Given the description of an element on the screen output the (x, y) to click on. 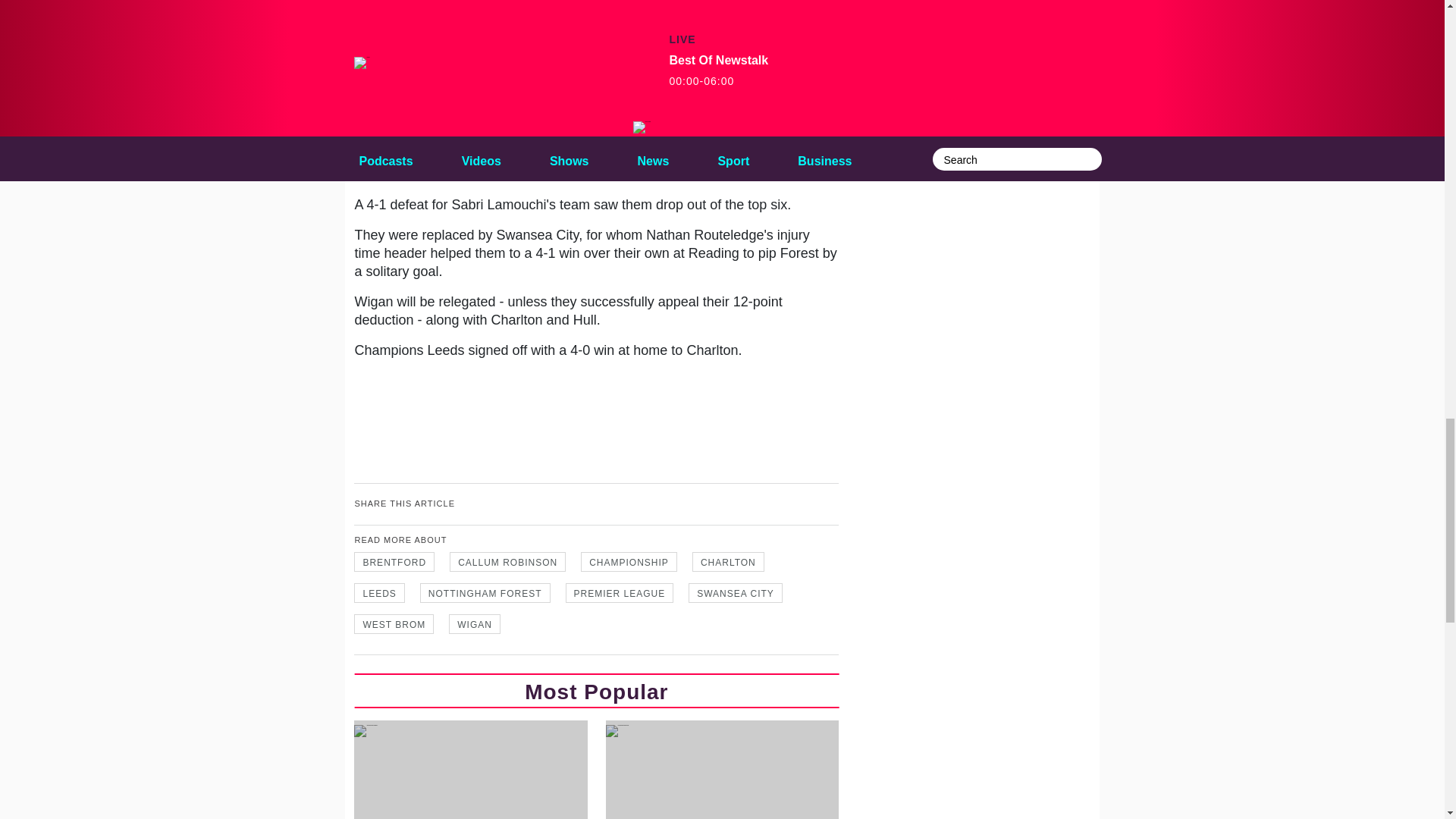
CALLUM ROBINSON (507, 561)
NOTTINGHAM FOREST (485, 592)
CHARLTON (728, 561)
LEEDS (378, 592)
CHAMPIONSHIP (628, 561)
SWANSEA CITY (735, 592)
BRENTFORD (393, 561)
PREMIER LEAGUE (620, 592)
